Given the description of an element on the screen output the (x, y) to click on. 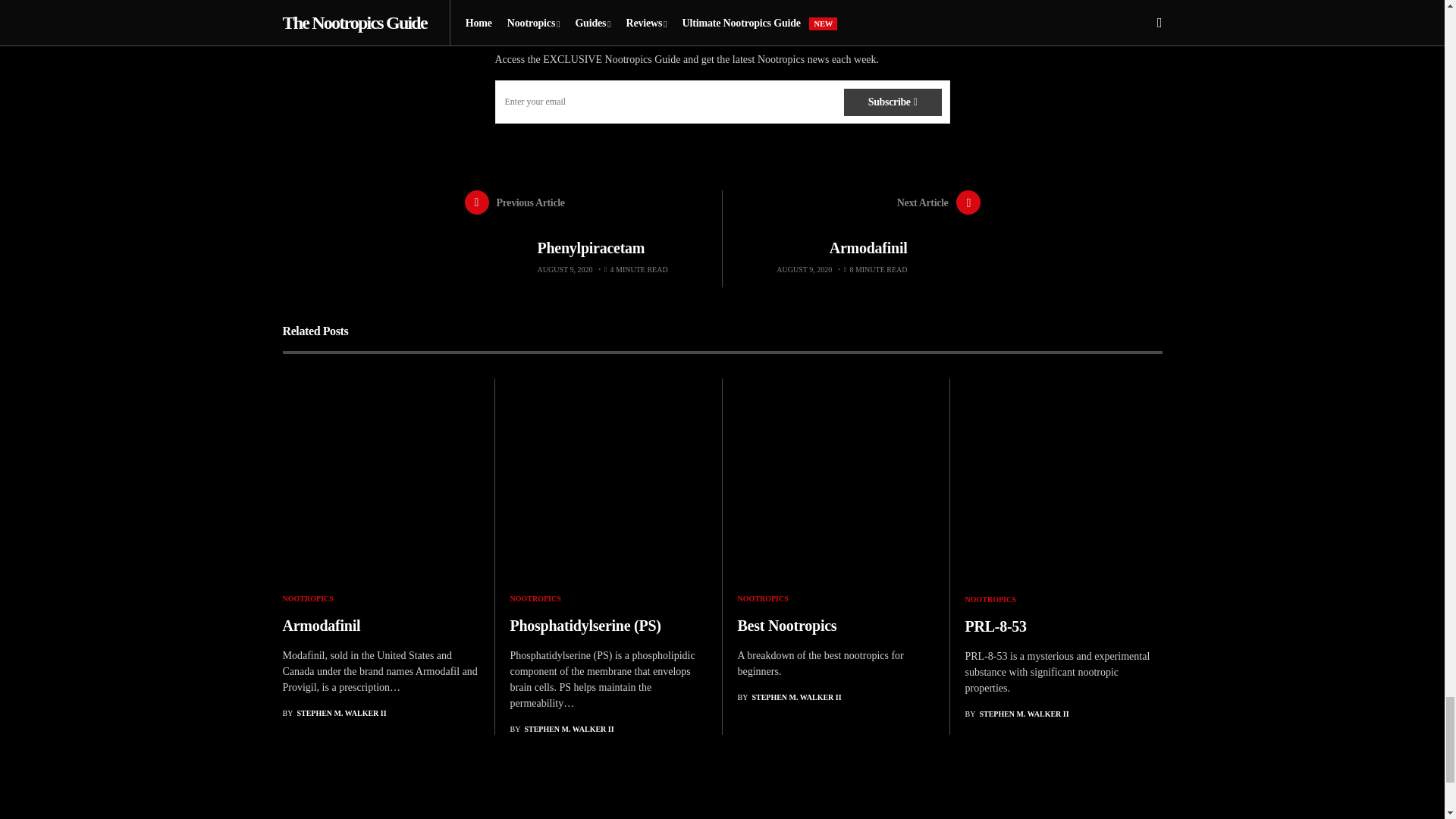
View all posts by Stephen M. Walker II (788, 696)
View all posts by Stephen M. Walker II (1015, 713)
View all posts by Stephen M. Walker II (333, 713)
View all posts by Stephen M. Walker II (560, 728)
